Given the description of an element on the screen output the (x, y) to click on. 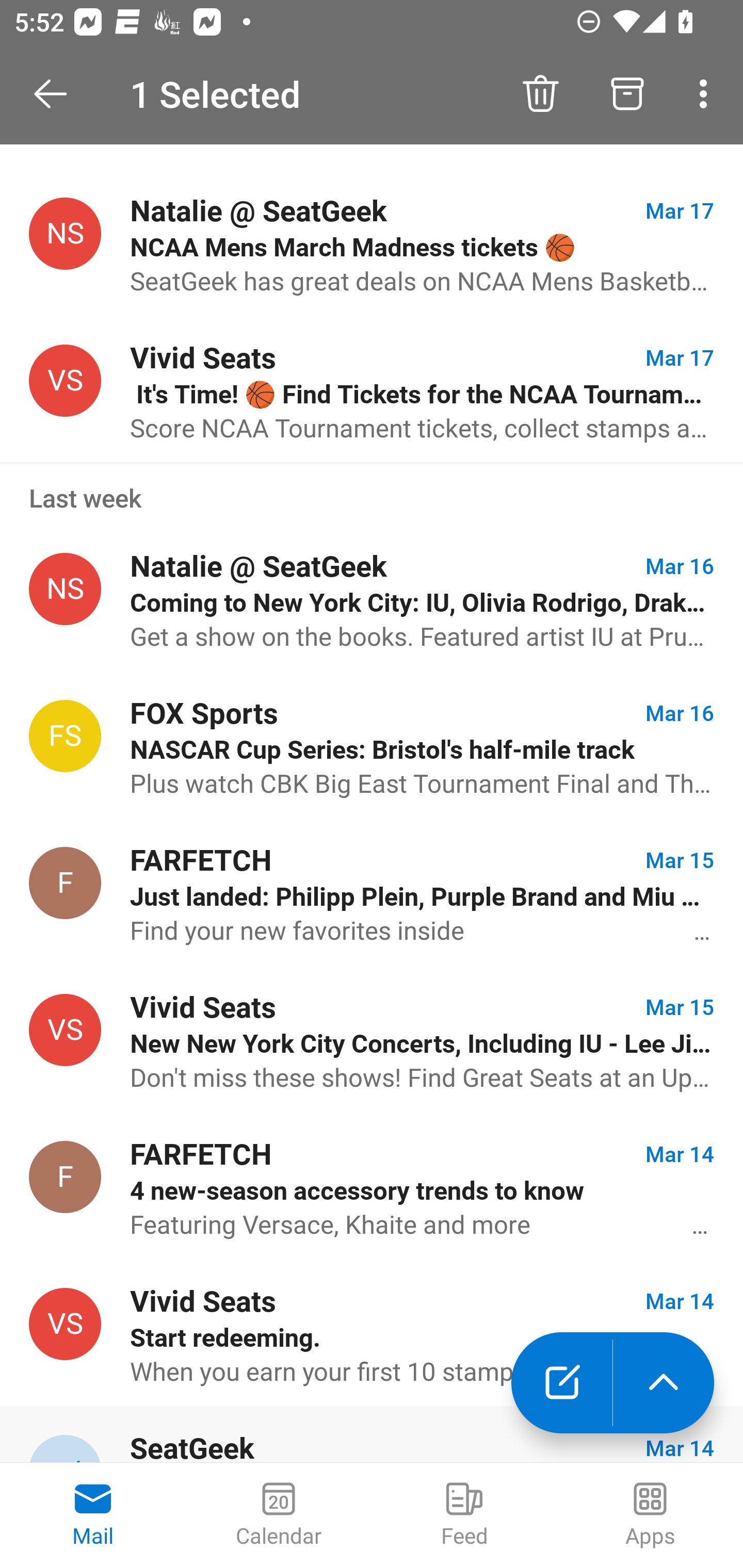
Delete (540, 93)
Archive (626, 93)
More options (706, 93)
Open Navigation Drawer (57, 94)
Natalie @ SeatGeek, events@seatgeek.com (64, 233)
Vivid Seats, tickets@live.vividseats.com (64, 380)
Natalie @ SeatGeek, events@seatgeek.com (64, 589)
FOX Sports, email@inbox.foxsports.com (64, 735)
FARFETCH, farfetch@email.farfetch.com (64, 882)
Vivid Seats, tickets@live.vividseats.com (64, 1030)
FARFETCH, farfetch@email.farfetch.com (64, 1177)
Vivid Seats, tickets@live.vividseats.com (64, 1323)
New mail (561, 1382)
launch the extended action menu (663, 1382)
Calendar (278, 1515)
Feed (464, 1515)
Apps (650, 1515)
